Given the description of an element on the screen output the (x, y) to click on. 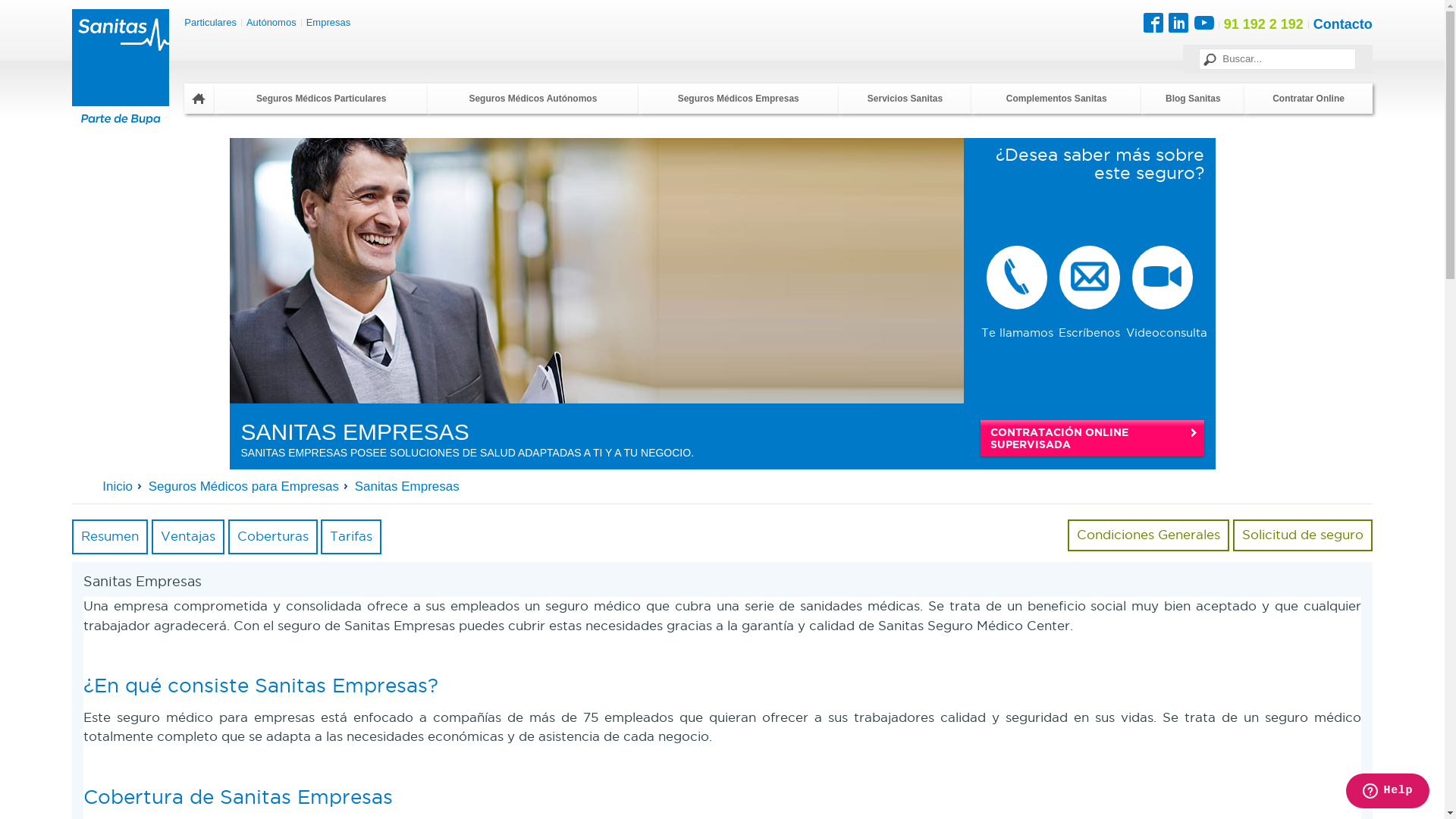
Sanitas Empresas Element type: text (406, 486)
Blog Sanitas Element type: text (1192, 98)
Sanitas Element type: hover (120, 119)
Coberturas Element type: text (272, 536)
Condiciones Generales Element type: text (1148, 535)
Contacto Element type: text (1342, 25)
Particulares Element type: text (210, 22)
Opens a widget where you can chat to one of our agents Element type: hover (1387, 792)
Servicios Sanitas Element type: text (904, 98)
Enviar consulta Element type: text (78, 10)
Empresas Element type: text (328, 22)
Resumen Element type: text (109, 536)
Te llamamos Element type: text (1017, 291)
Complementos Sanitas Element type: text (1056, 98)
Inicio Element type: text (123, 486)
Tarifas Element type: text (350, 536)
Contratar Online Element type: text (1307, 98)
91 192 2 192 Element type: text (1263, 23)
Solicitud de seguro Element type: text (1302, 535)
Sanitas Element type: hover (120, 66)
Videoconsulta Element type: text (1166, 291)
Inicio Element type: text (199, 98)
Ventajas Element type: text (187, 536)
